Given the description of an element on the screen output the (x, y) to click on. 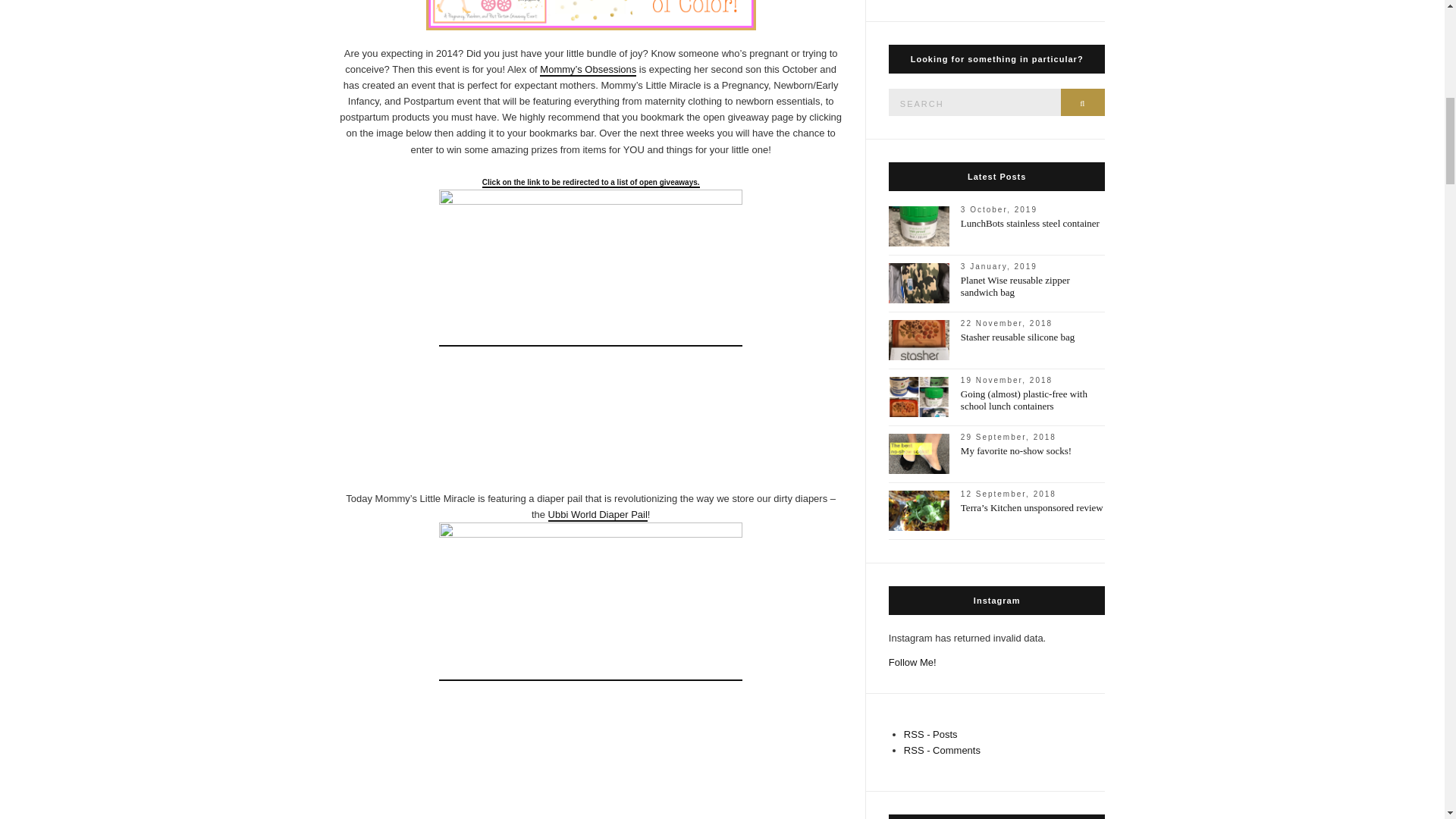
Ubbi World Diaper Pail (597, 514)
Subscribe to Comments (941, 749)
Subscribe to Posts (931, 734)
